Given the description of an element on the screen output the (x, y) to click on. 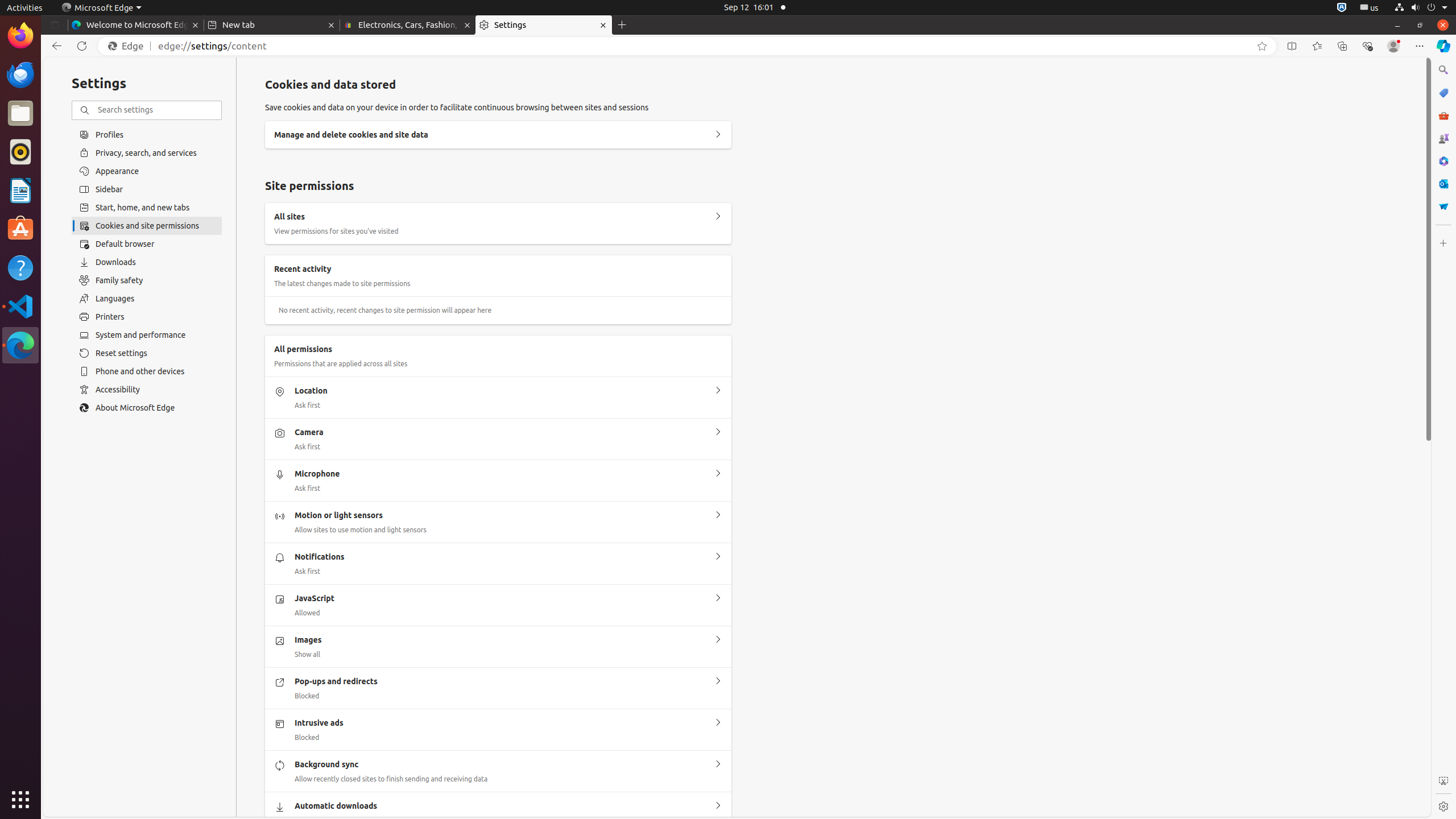
Privacy, search, and services Element type: tree-item (146, 152)
Profiles Element type: tree-item (146, 134)
Profile 1 Profile, Please sign in Element type: push-button (1392, 46)
Images Element type: push-button (717, 639)
Start, home, and new tabs Element type: tree-item (146, 207)
